Given the description of an element on the screen output the (x, y) to click on. 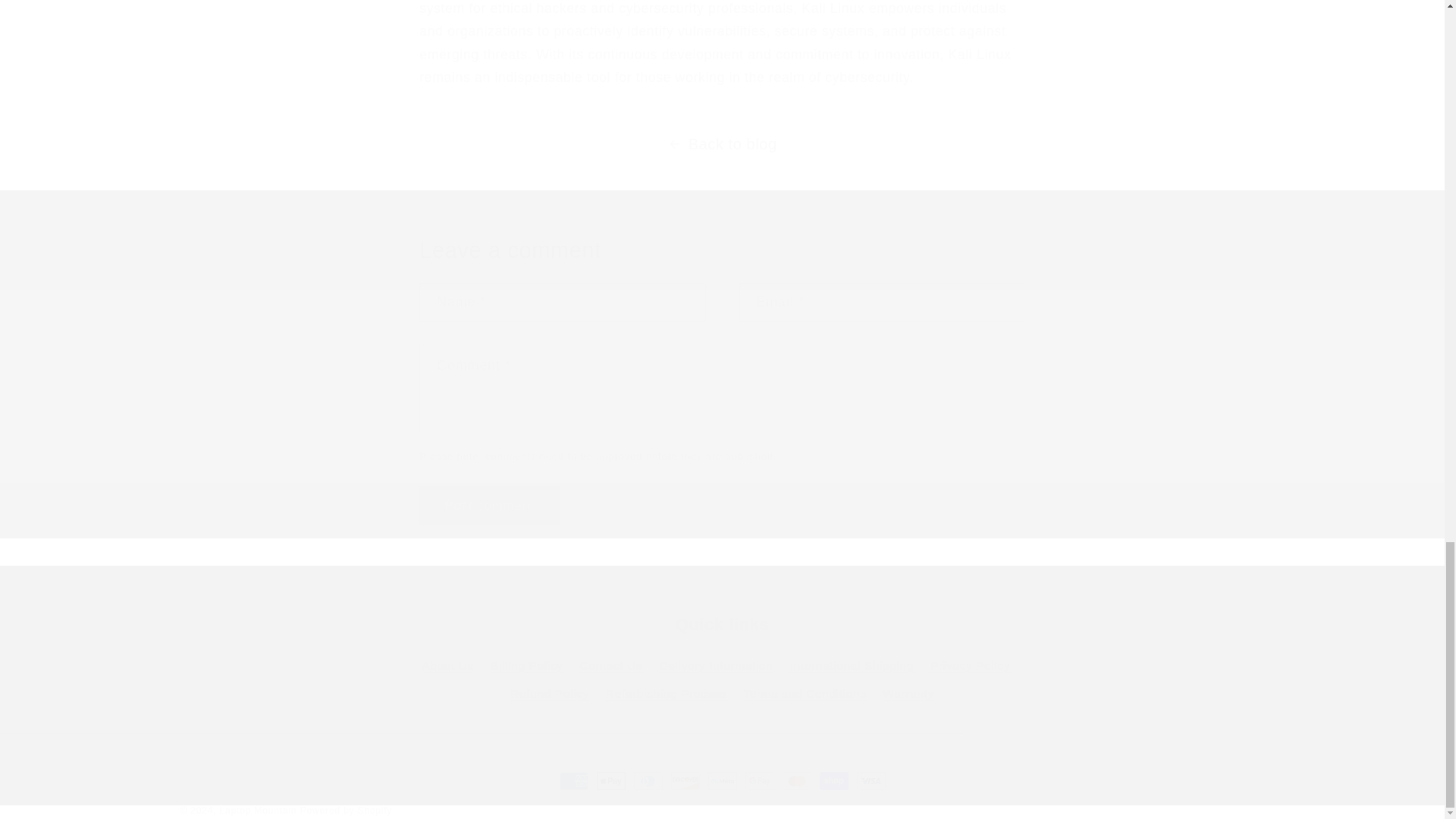
Post comment (489, 505)
About Us (448, 668)
Privacy Policy (970, 665)
Billing Policy (526, 665)
Contact Us (611, 665)
Refund Policy (550, 694)
Post comment (489, 505)
Delivery Information (716, 665)
International Shipping (852, 665)
